Given the description of an element on the screen output the (x, y) to click on. 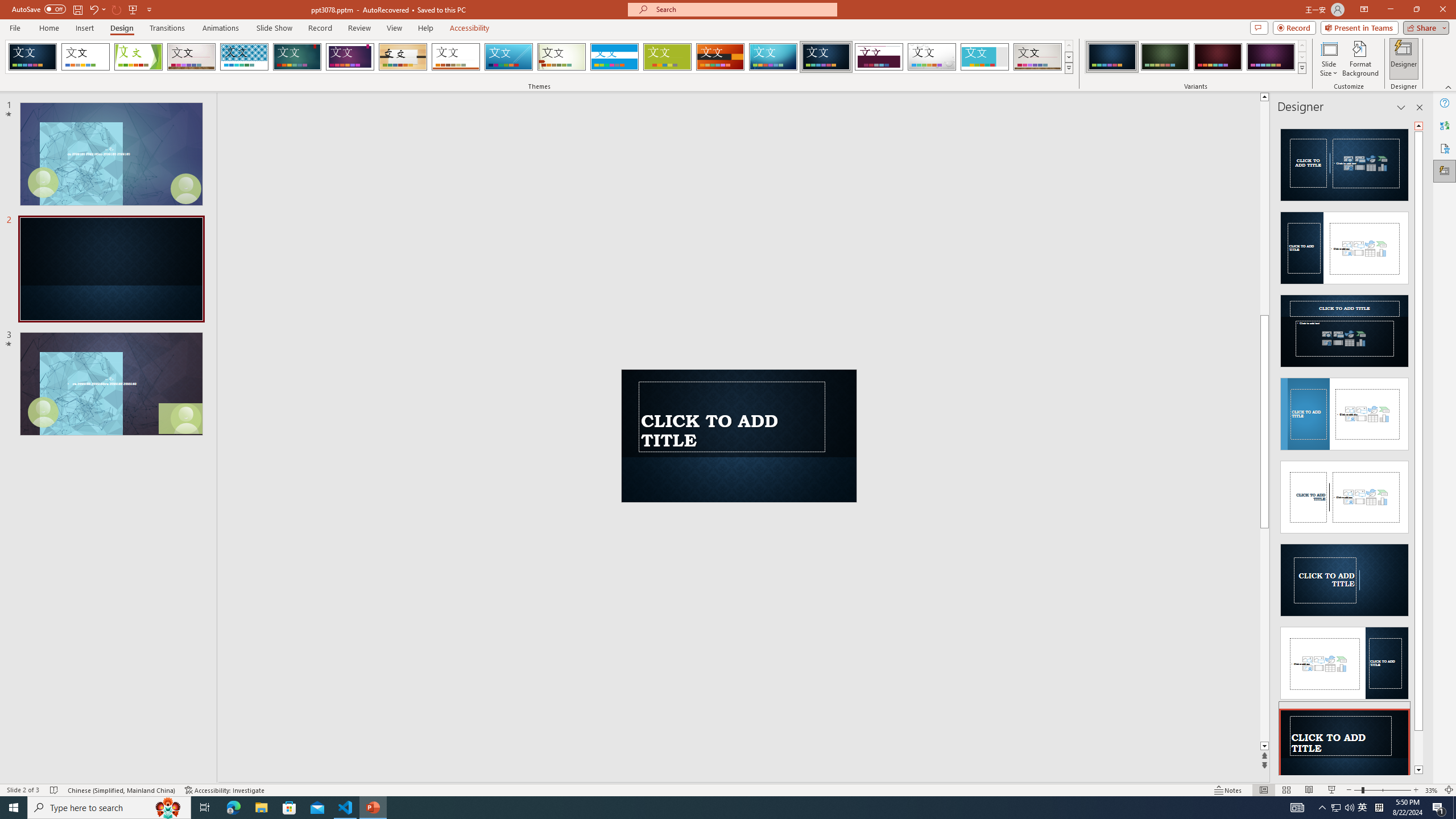
Dividend (879, 56)
Variants (1301, 67)
Damask (826, 56)
Basis (667, 56)
